Given the description of an element on the screen output the (x, y) to click on. 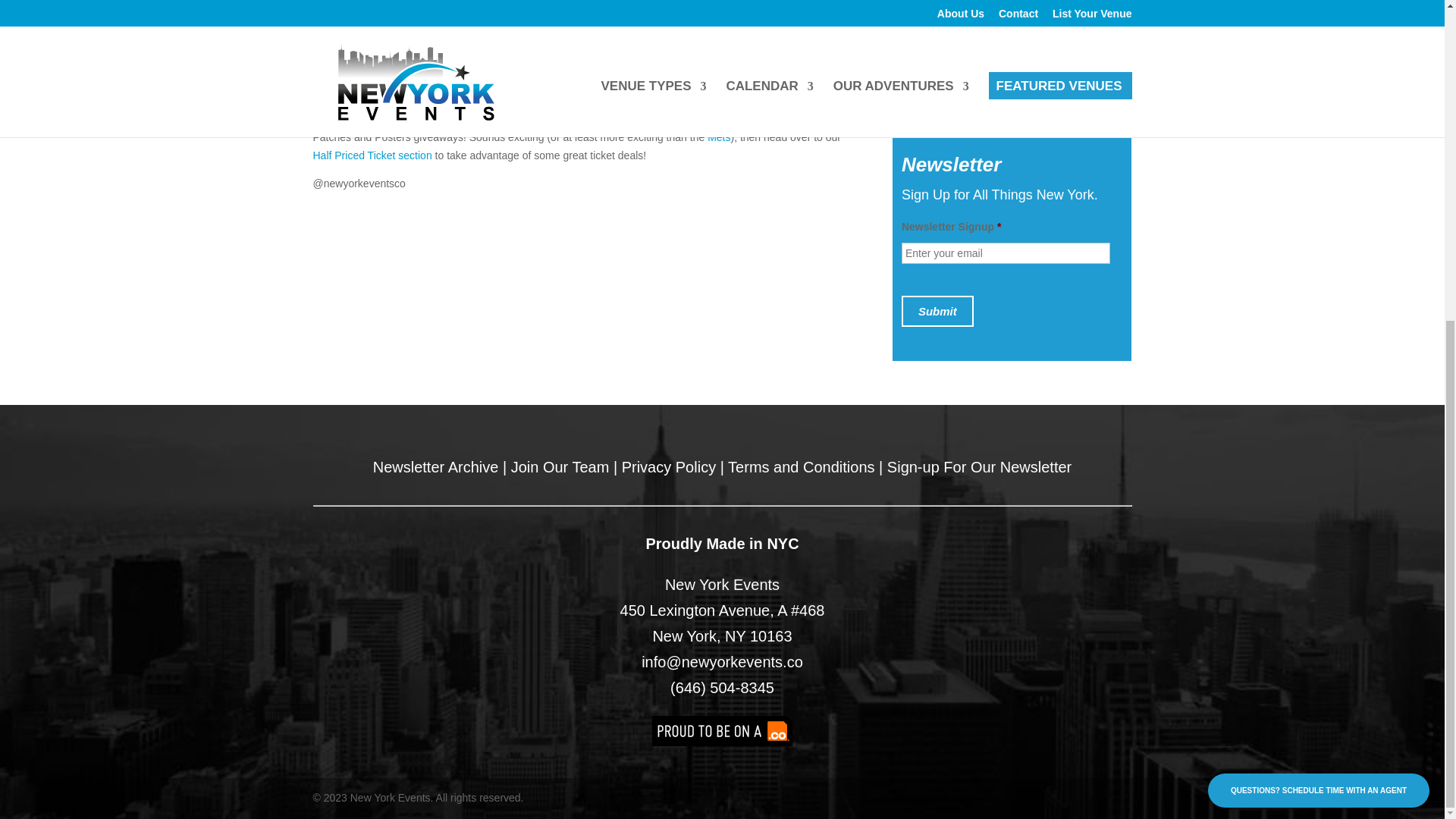
Half Priced Tickets (371, 155)
Submit (937, 310)
Opening Day!  New York Mets vs. Washington Nationals (718, 137)
